Given the description of an element on the screen output the (x, y) to click on. 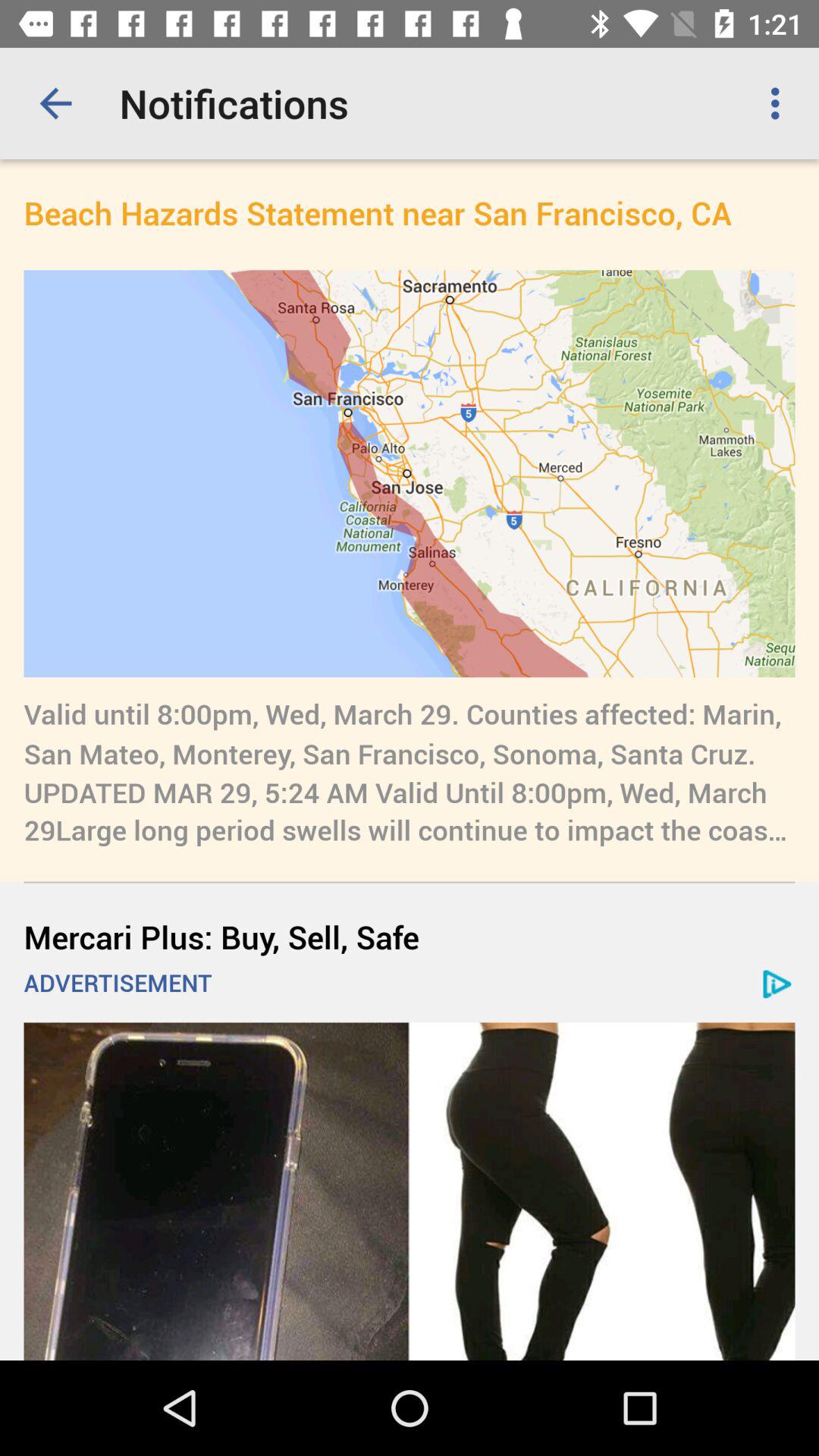
open icon to the right of the notifications icon (779, 103)
